Given the description of an element on the screen output the (x, y) to click on. 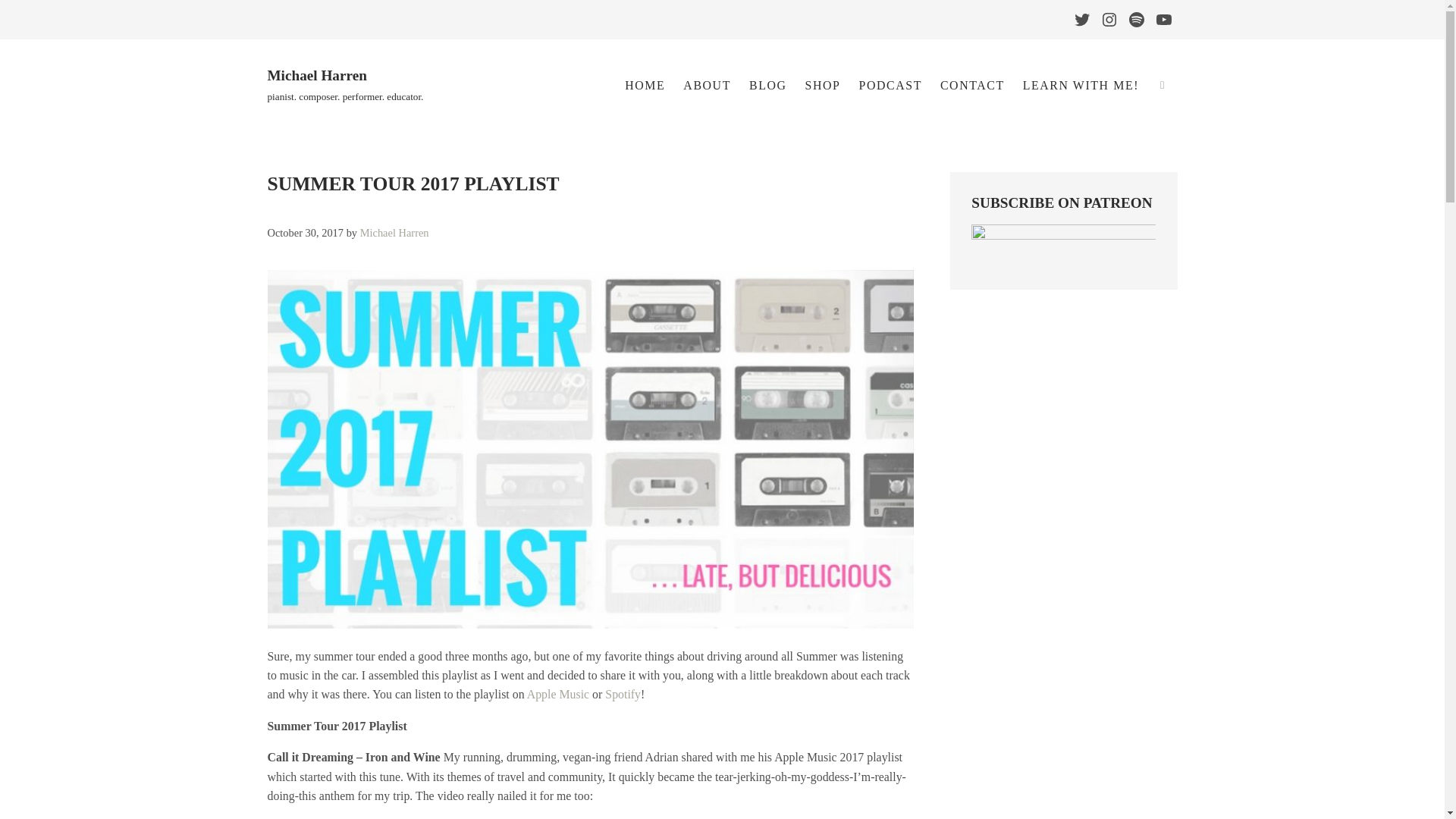
Instagram (1108, 19)
SHOP (823, 84)
PODCAST (889, 84)
Michael Harren (316, 75)
Apple Music (558, 694)
YouTube (1163, 19)
Michael Harren (394, 233)
LEARN WITH ME! (1080, 84)
Spotify (1136, 19)
